Given the description of an element on the screen output the (x, y) to click on. 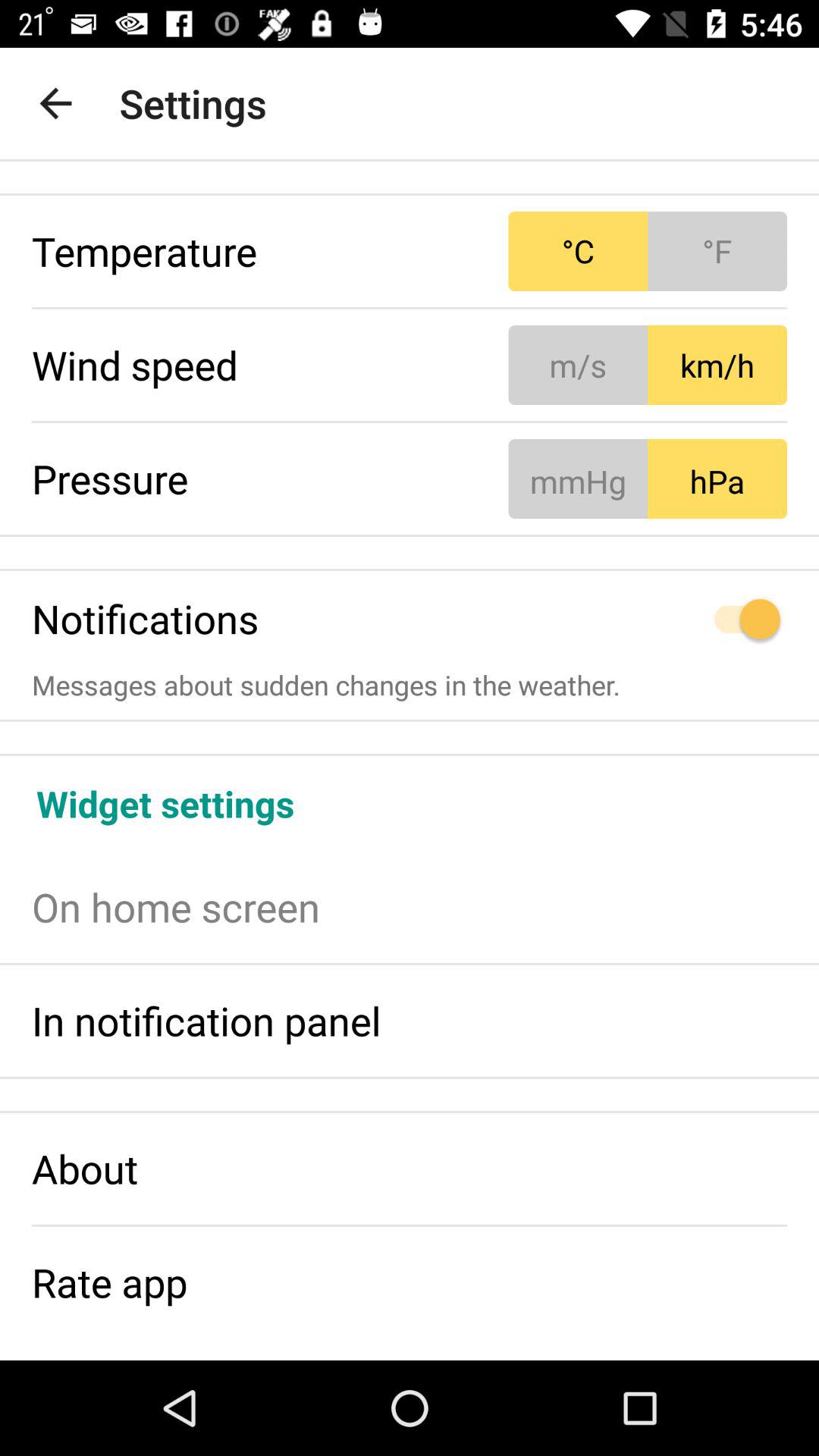
click item to the right of wind speed icon (647, 364)
